Given the description of an element on the screen output the (x, y) to click on. 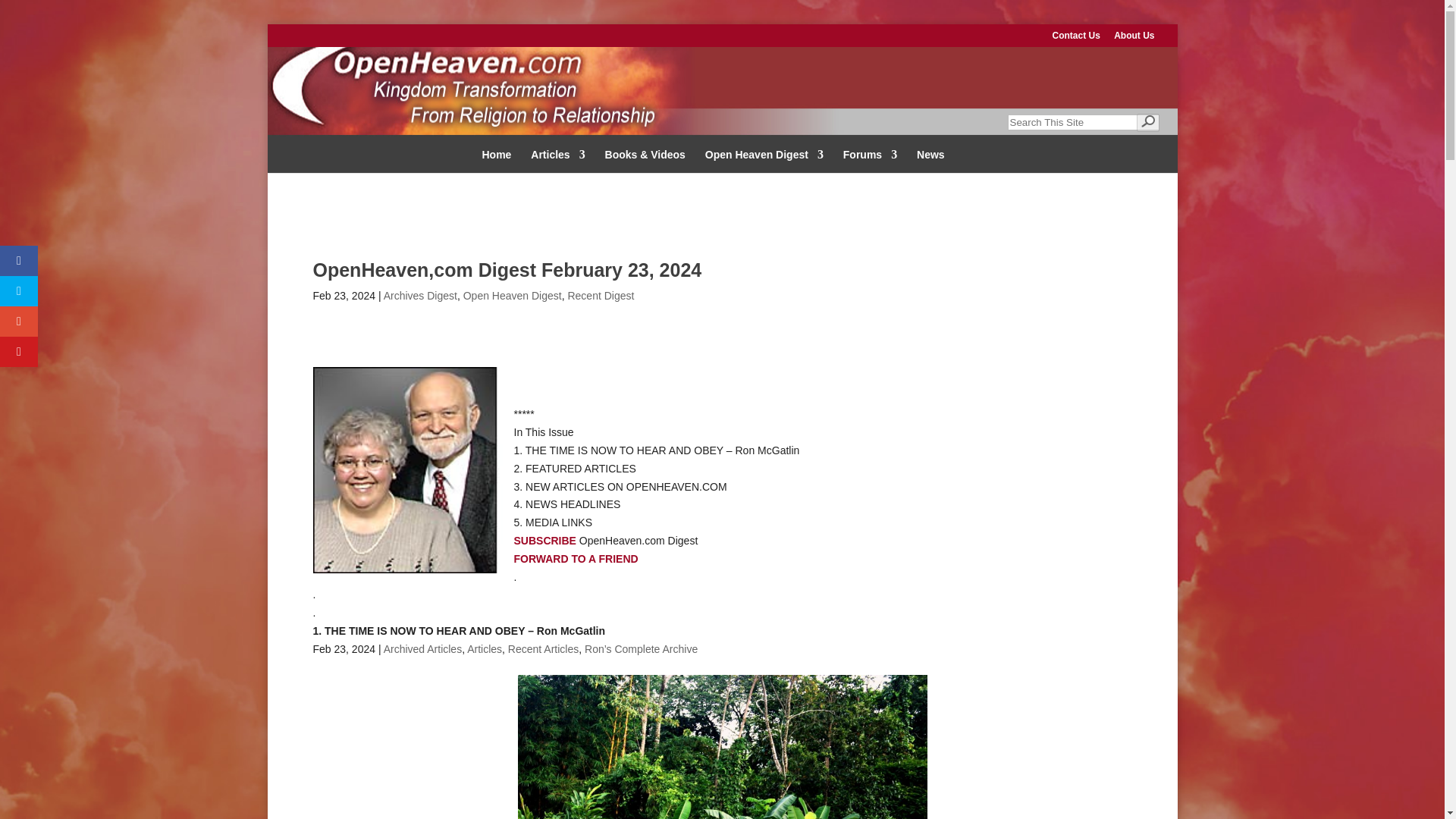
News (930, 156)
Home (496, 156)
Articles (484, 648)
Recent Digest (600, 295)
Archived Articles (422, 648)
Open Heaven Digest (764, 156)
Articles (558, 156)
SUBSCRIBE  (546, 540)
Recent Articles (543, 648)
About Us (1133, 38)
